Given the description of an element on the screen output the (x, y) to click on. 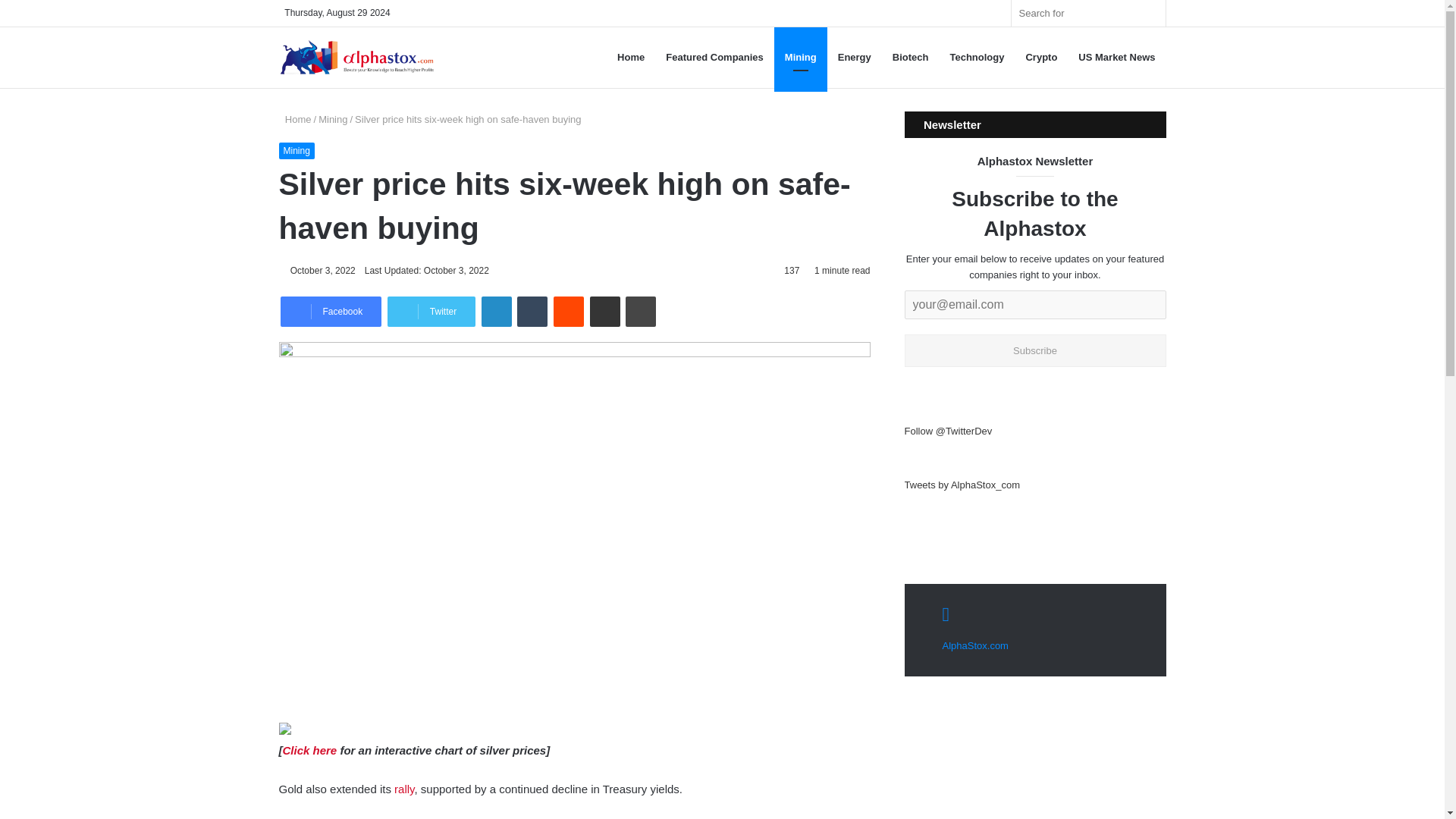
Search for (1150, 13)
Facebook (331, 311)
Tumblr (531, 311)
Mining (296, 150)
Reddit (568, 311)
Print (641, 311)
US Market News (1116, 57)
Facebook (331, 311)
Twitter (431, 311)
Home (295, 119)
